Given the description of an element on the screen output the (x, y) to click on. 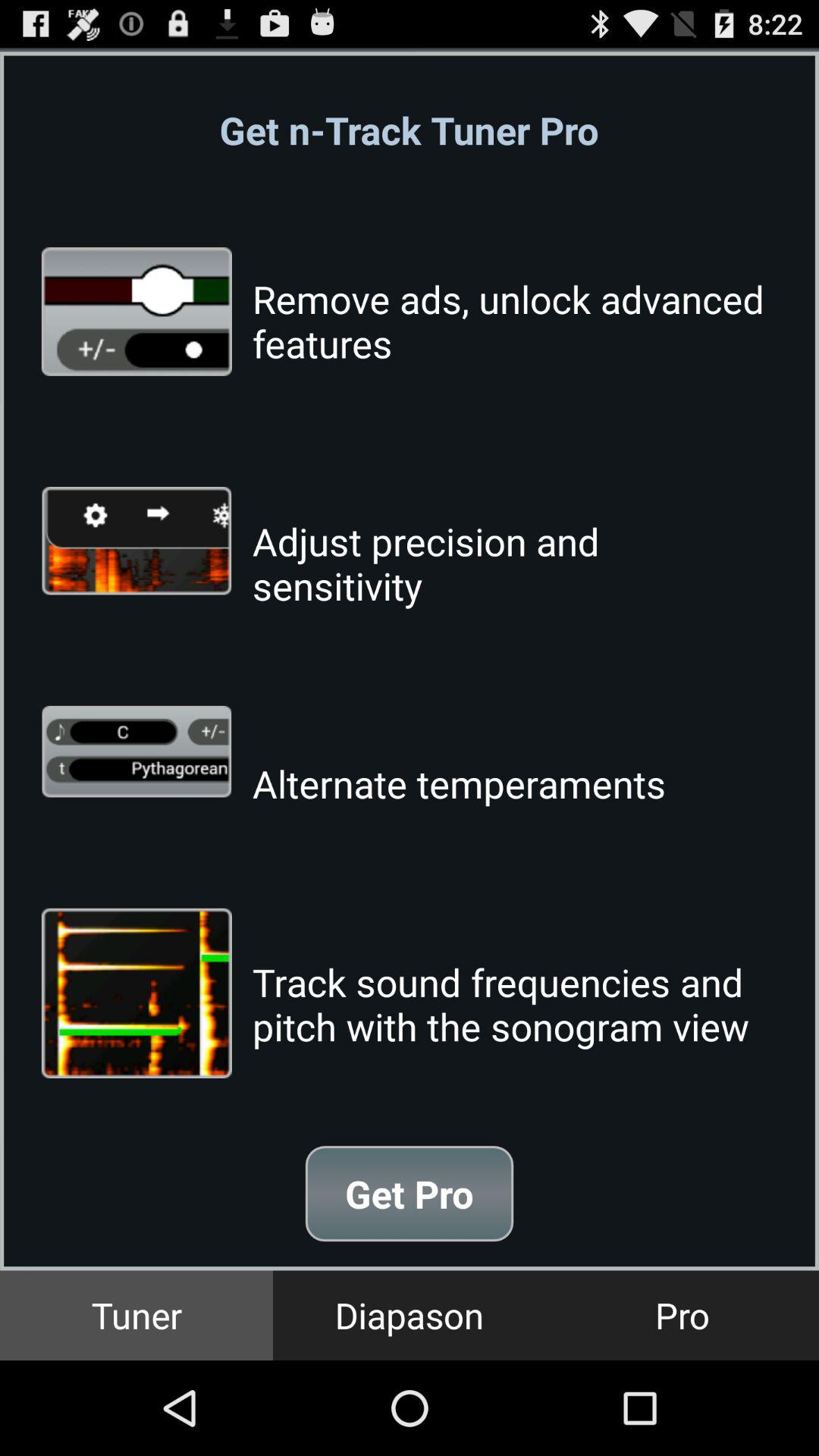
turn on the icon to the right of the tuner icon (409, 1315)
